Given the description of an element on the screen output the (x, y) to click on. 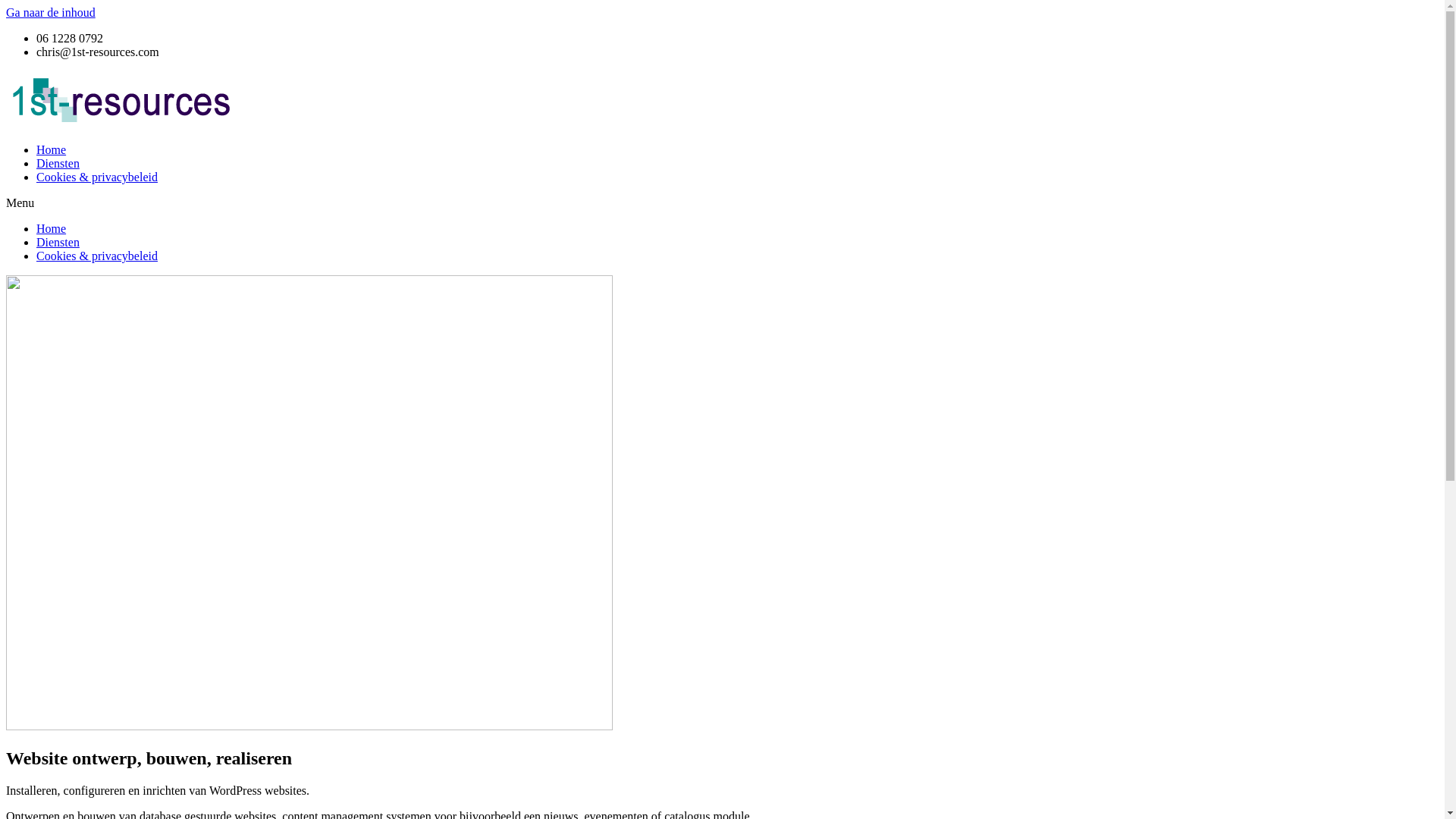
Home Element type: text (50, 149)
Cookies & privacybeleid Element type: text (96, 255)
Diensten Element type: text (57, 241)
Ga naar de inhoud Element type: text (50, 12)
Cookies & privacybeleid Element type: text (96, 176)
Diensten Element type: text (57, 162)
Home Element type: text (50, 228)
